Given the description of an element on the screen output the (x, y) to click on. 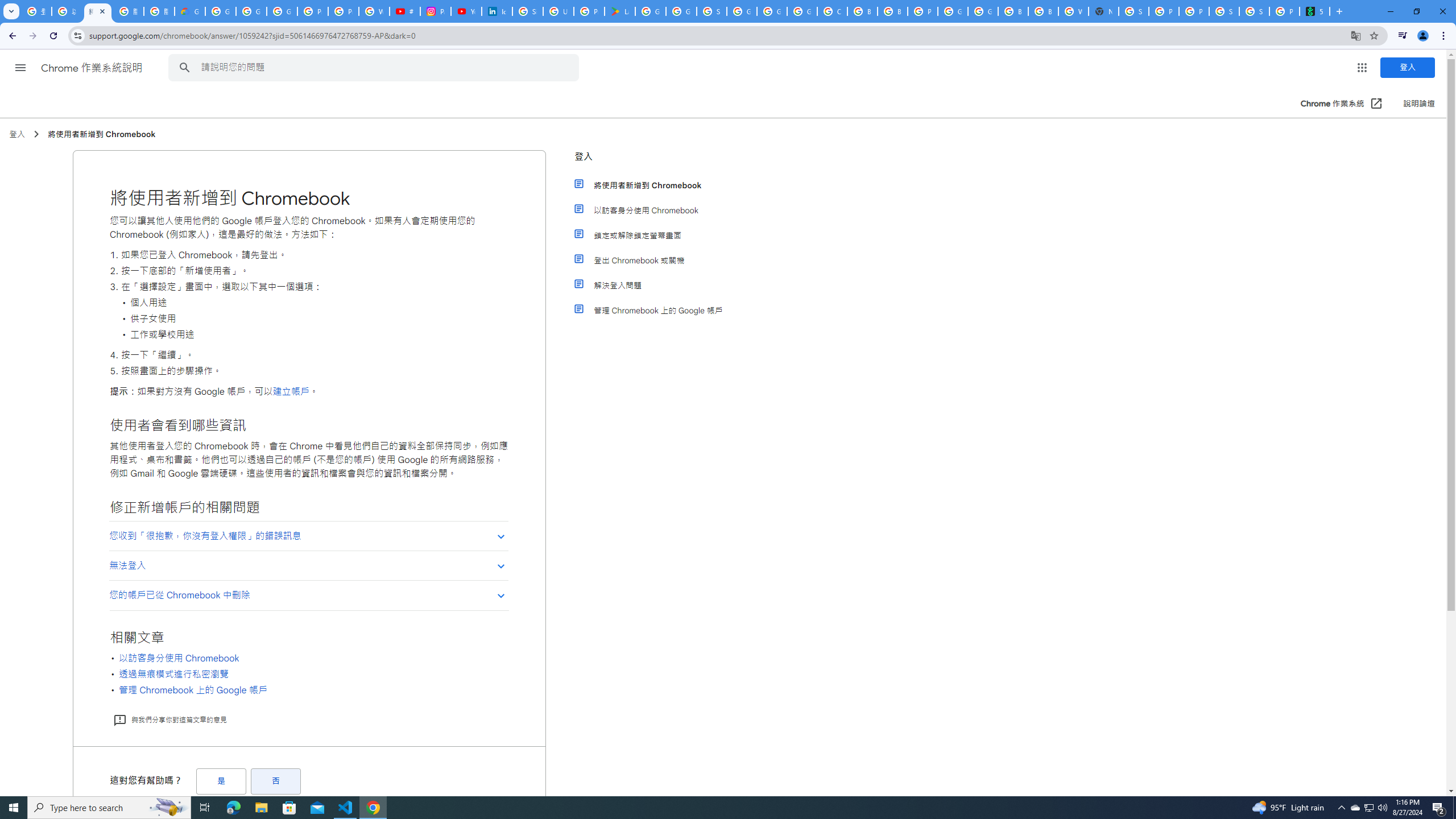
New Tab (1103, 11)
Sign in - Google Accounts (527, 11)
Google Workspace - Specific Terms (681, 11)
